Given the description of an element on the screen output the (x, y) to click on. 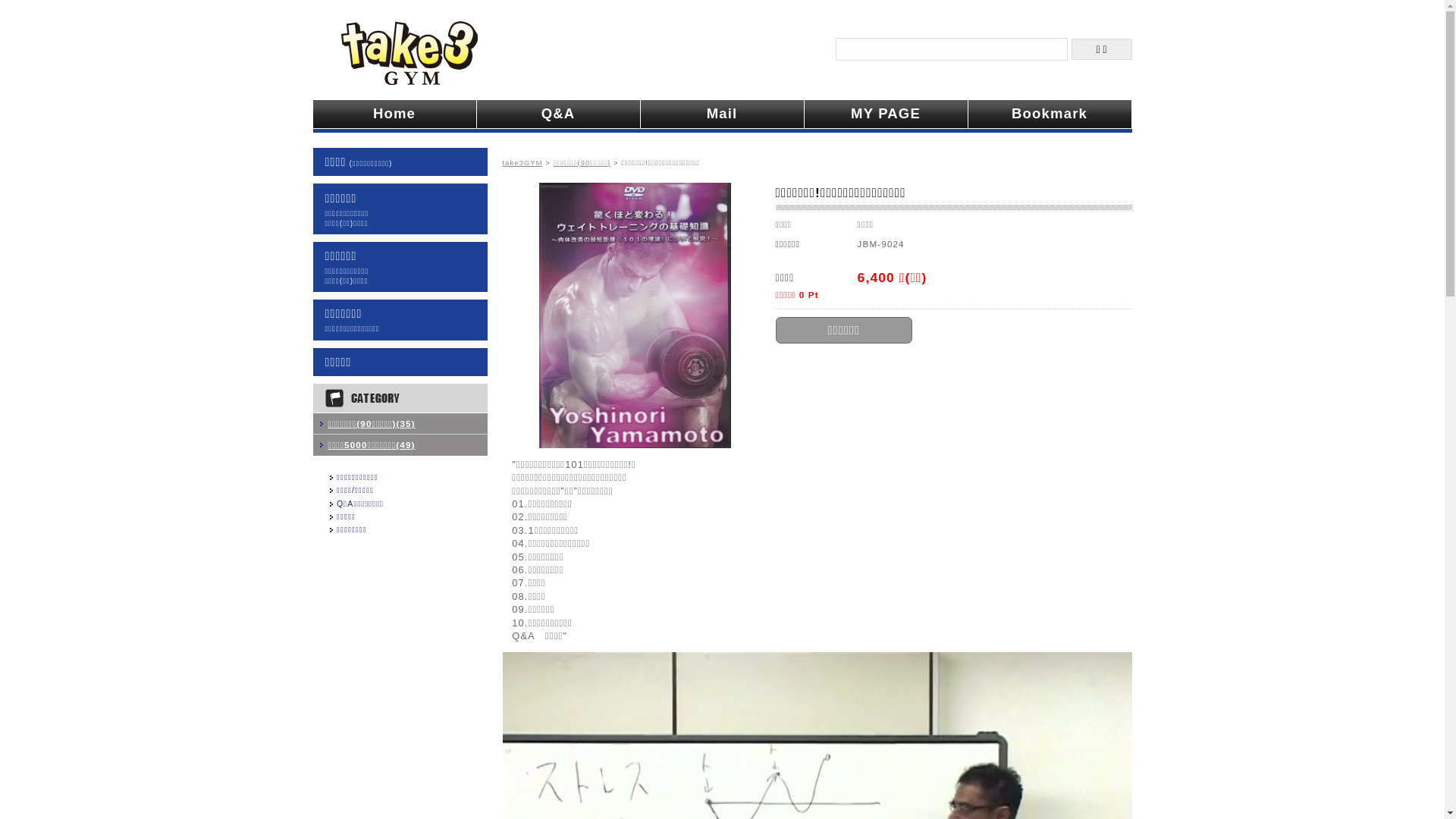
Home Element type: text (393, 114)
MY PAGE Element type: text (884, 114)
Q&A Element type: text (557, 114)
Bookmark Element type: text (1048, 114)
take3GYM Element type: text (522, 162)
Mail Element type: text (721, 114)
